Given the description of an element on the screen output the (x, y) to click on. 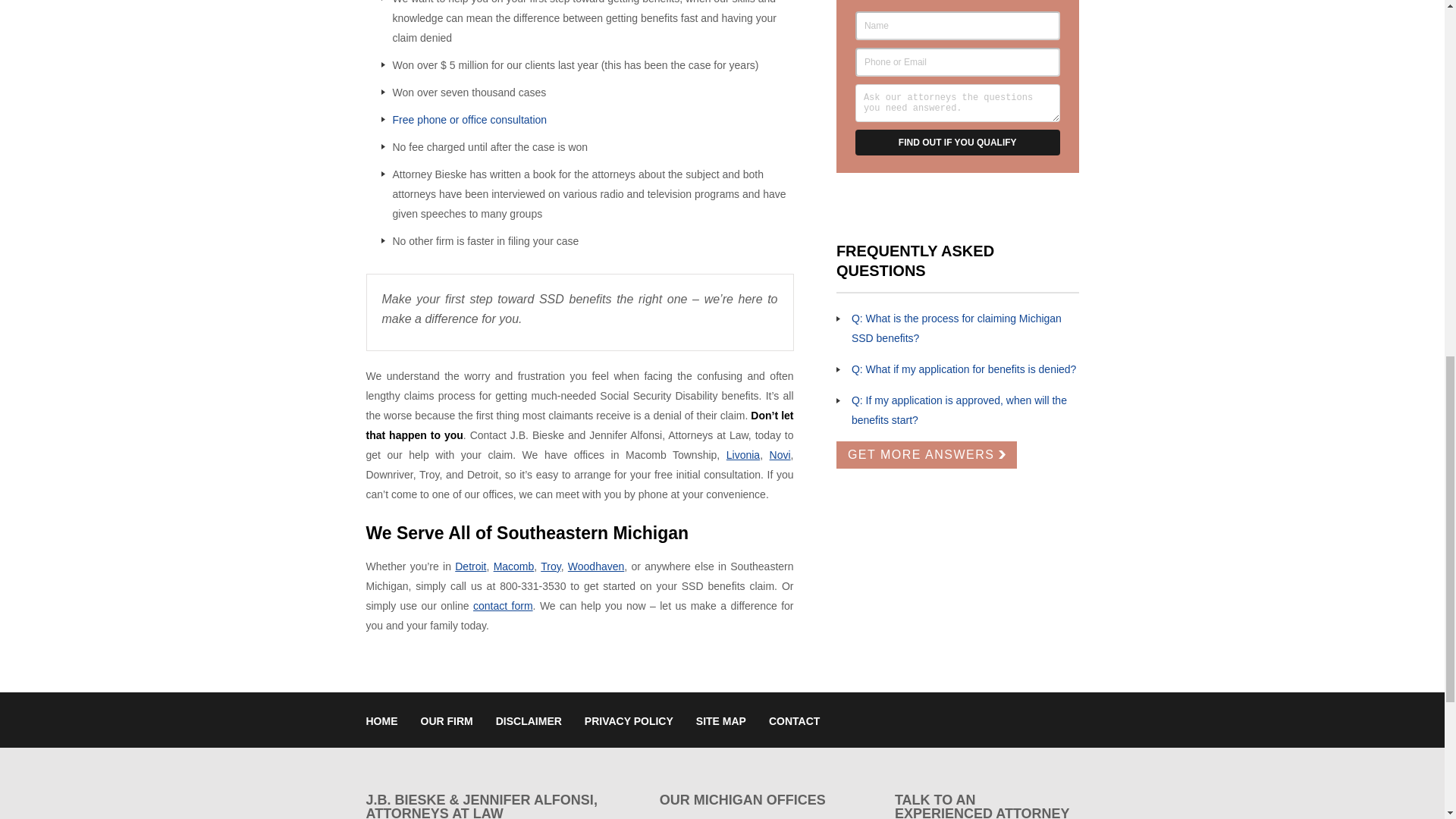
Free phone or office consultation (470, 119)
FIND OUT IF YOU QUALIFY (957, 142)
Troy (550, 566)
Novi (780, 454)
Macomb (513, 566)
Livonia (743, 454)
Detroit (470, 566)
Contact Us (470, 119)
